Given the description of an element on the screen output the (x, y) to click on. 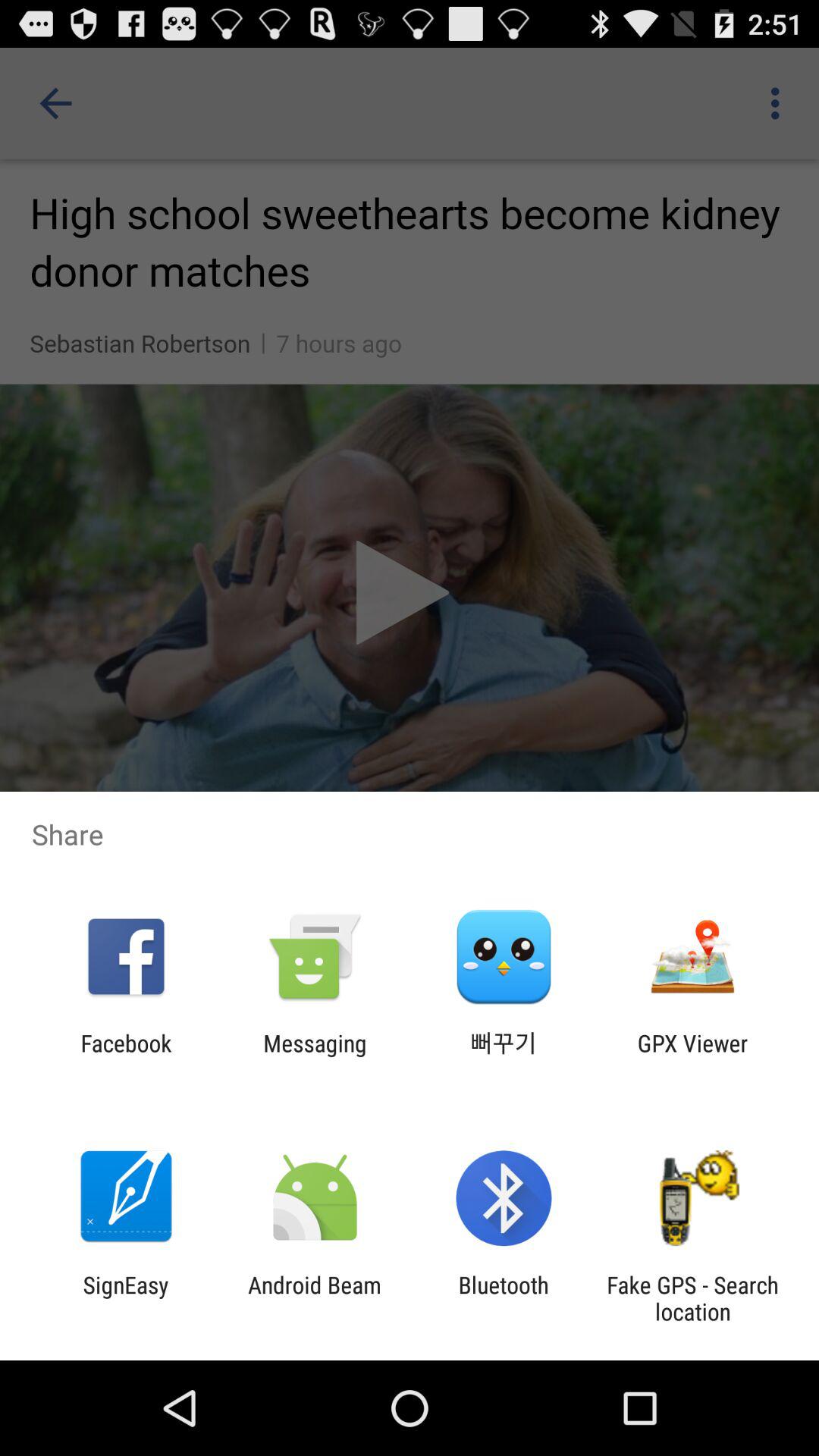
click app next to android beam app (503, 1298)
